Given the description of an element on the screen output the (x, y) to click on. 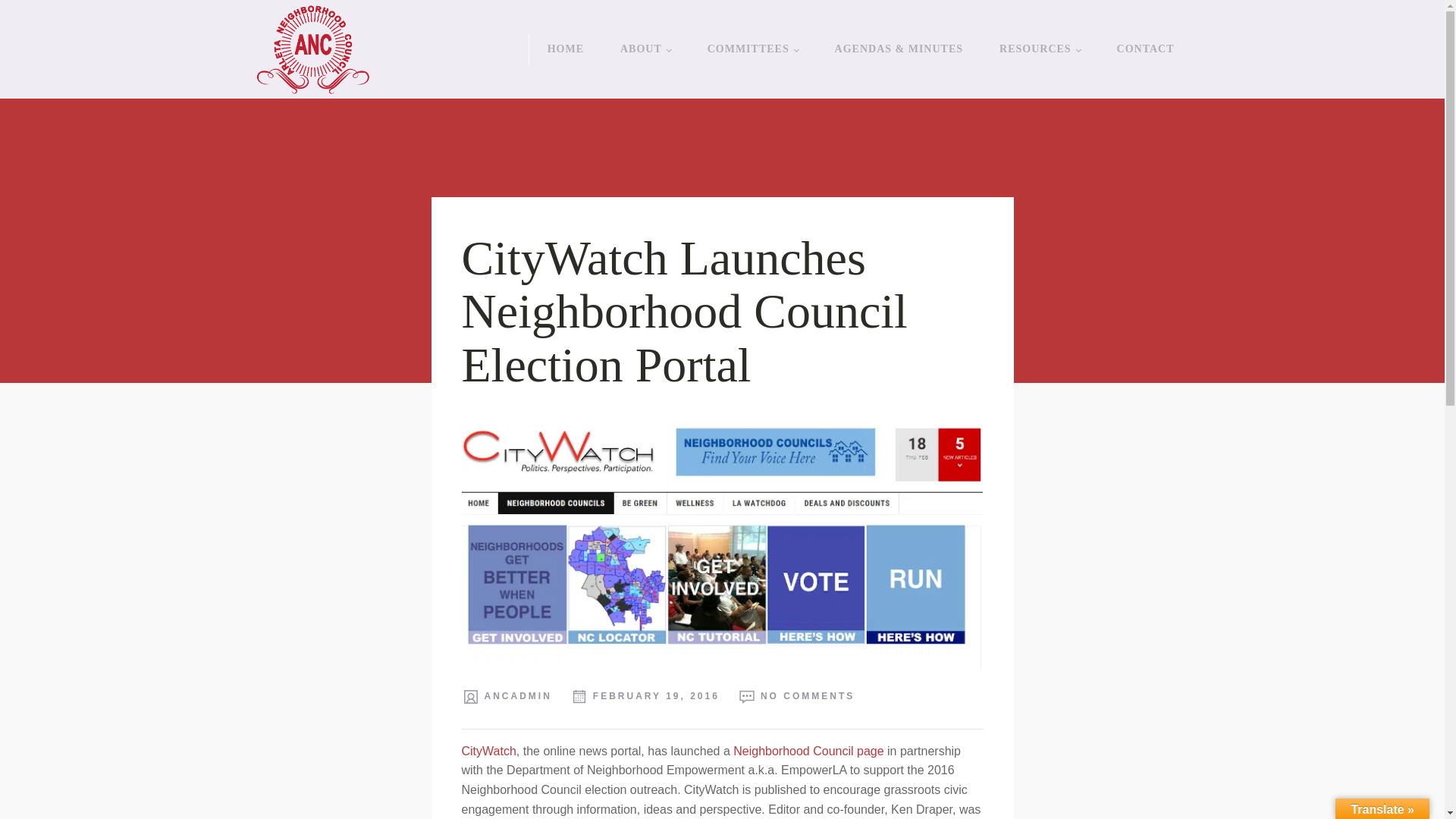
CityWatch (488, 750)
ABOUT (645, 49)
Neighborhood Council page (808, 750)
CONTACT (1145, 49)
COMMITTEES (752, 49)
RESOURCES (1039, 49)
HOME (565, 49)
